Given the description of an element on the screen output the (x, y) to click on. 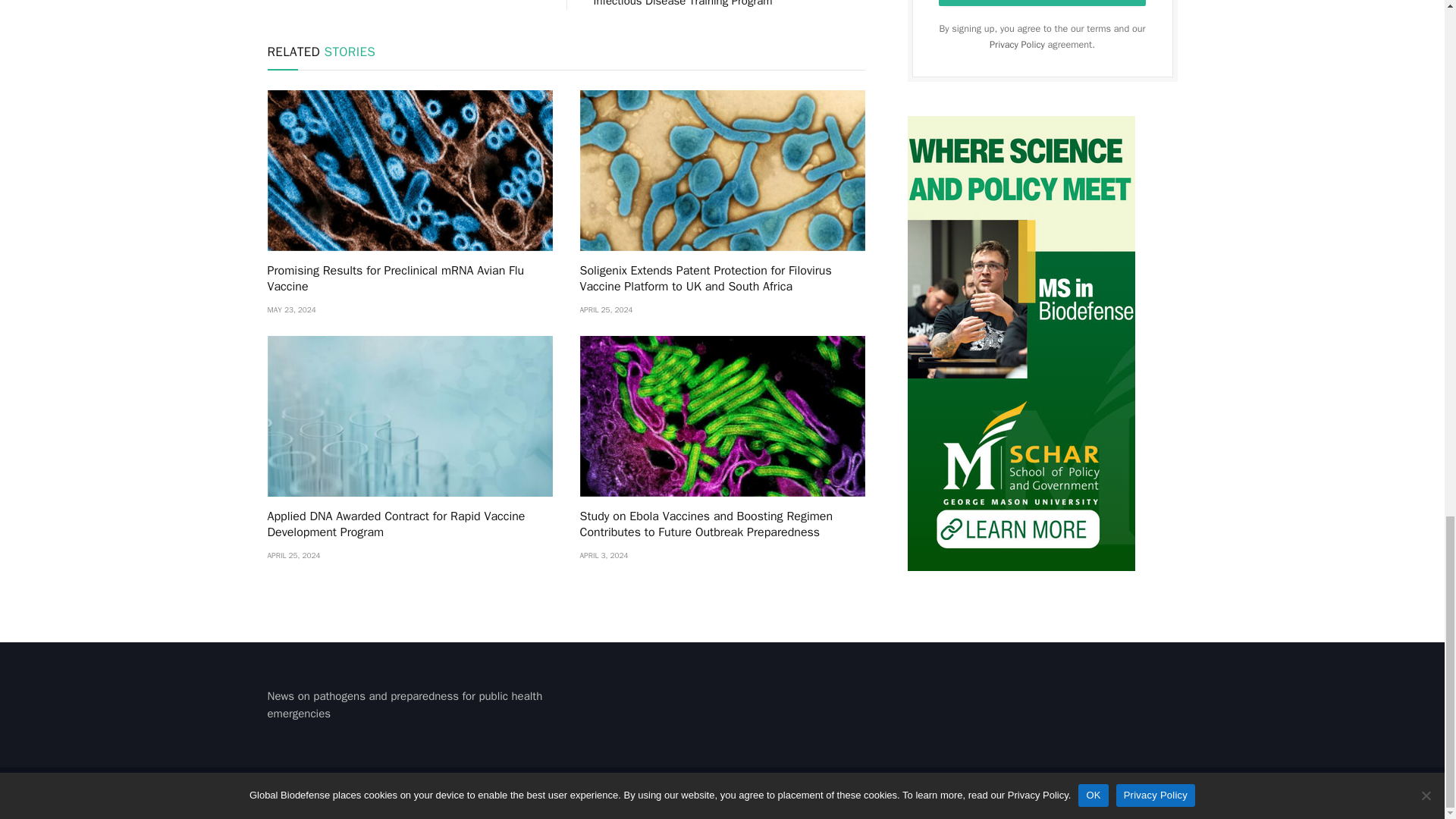
Subscribe (1043, 2)
Promising Results for Preclinical mRNA Avian Flu Vaccine (408, 279)
